Given the description of an element on the screen output the (x, y) to click on. 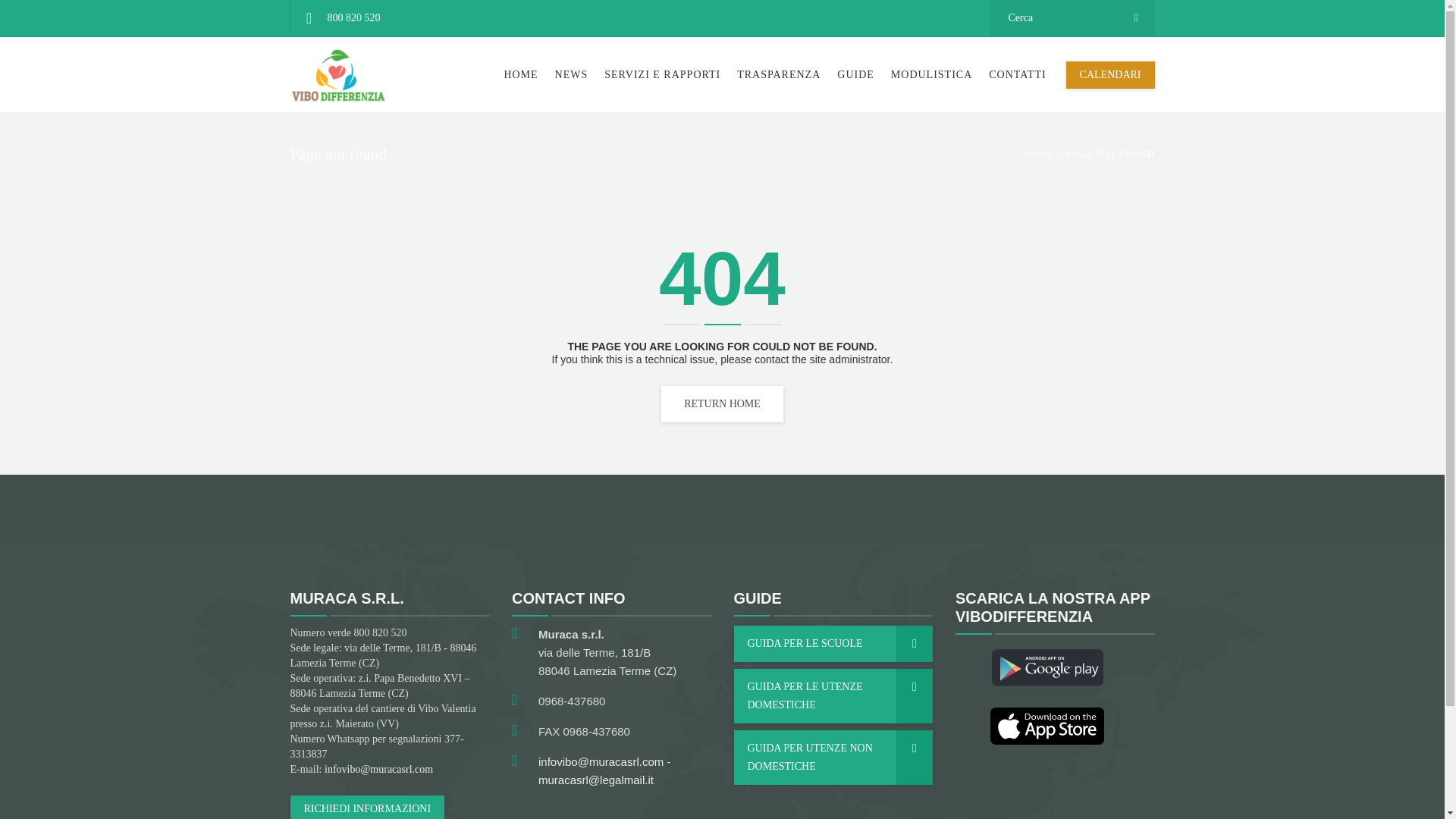
CALENDARI (1109, 74)
GUIDA PER UTENZE NON DOMESTICHE (833, 757)
MODULISTICA (930, 74)
800 820 520 (341, 18)
TRASPARENZA (778, 74)
GUIDA PER LE SCUOLE (833, 643)
GUIDA PER LE UTENZE DOMESTICHE (833, 696)
RETURN HOME (722, 403)
RICHIEDI INFORMAZIONI (366, 807)
CONTATTI (1016, 74)
